Given the description of an element on the screen output the (x, y) to click on. 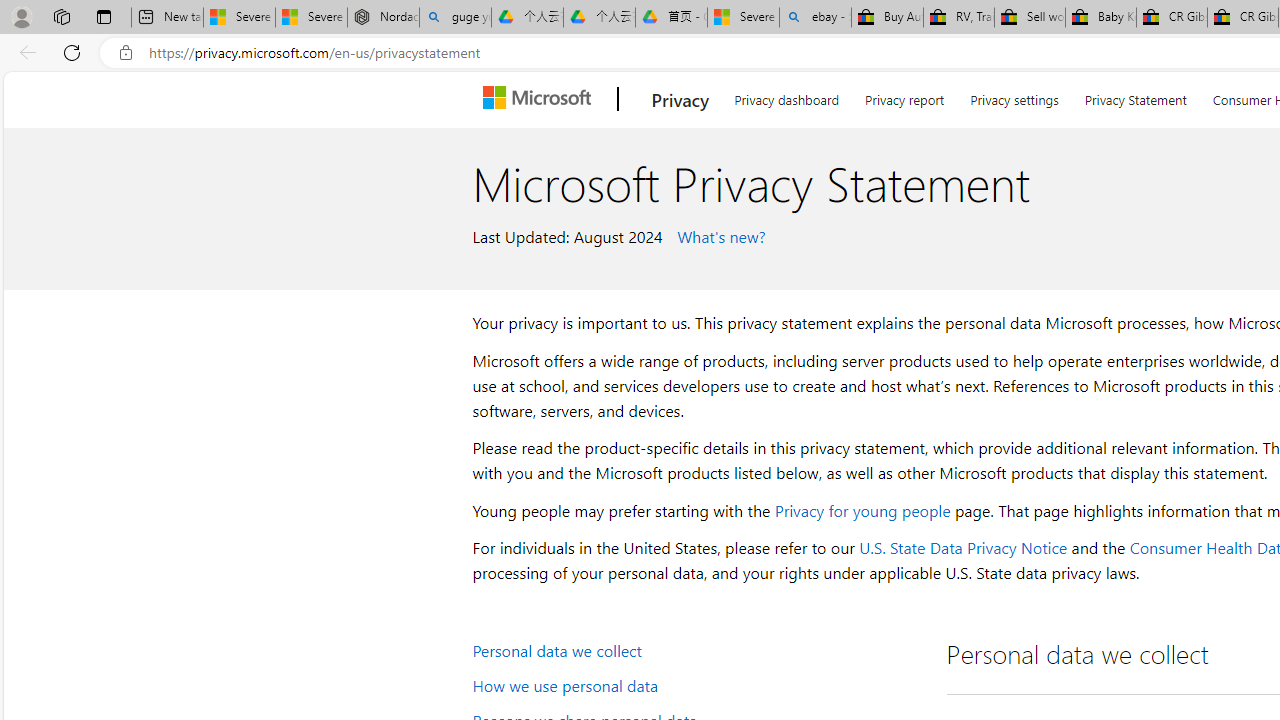
 What's new? (718, 235)
Privacy (680, 99)
Privacy report (904, 96)
Microsoft (541, 99)
Buy Auto Parts & Accessories | eBay (887, 17)
Privacy settings (1014, 96)
Privacy dashboard (786, 96)
Privacy dashboard (786, 96)
